Given the description of an element on the screen output the (x, y) to click on. 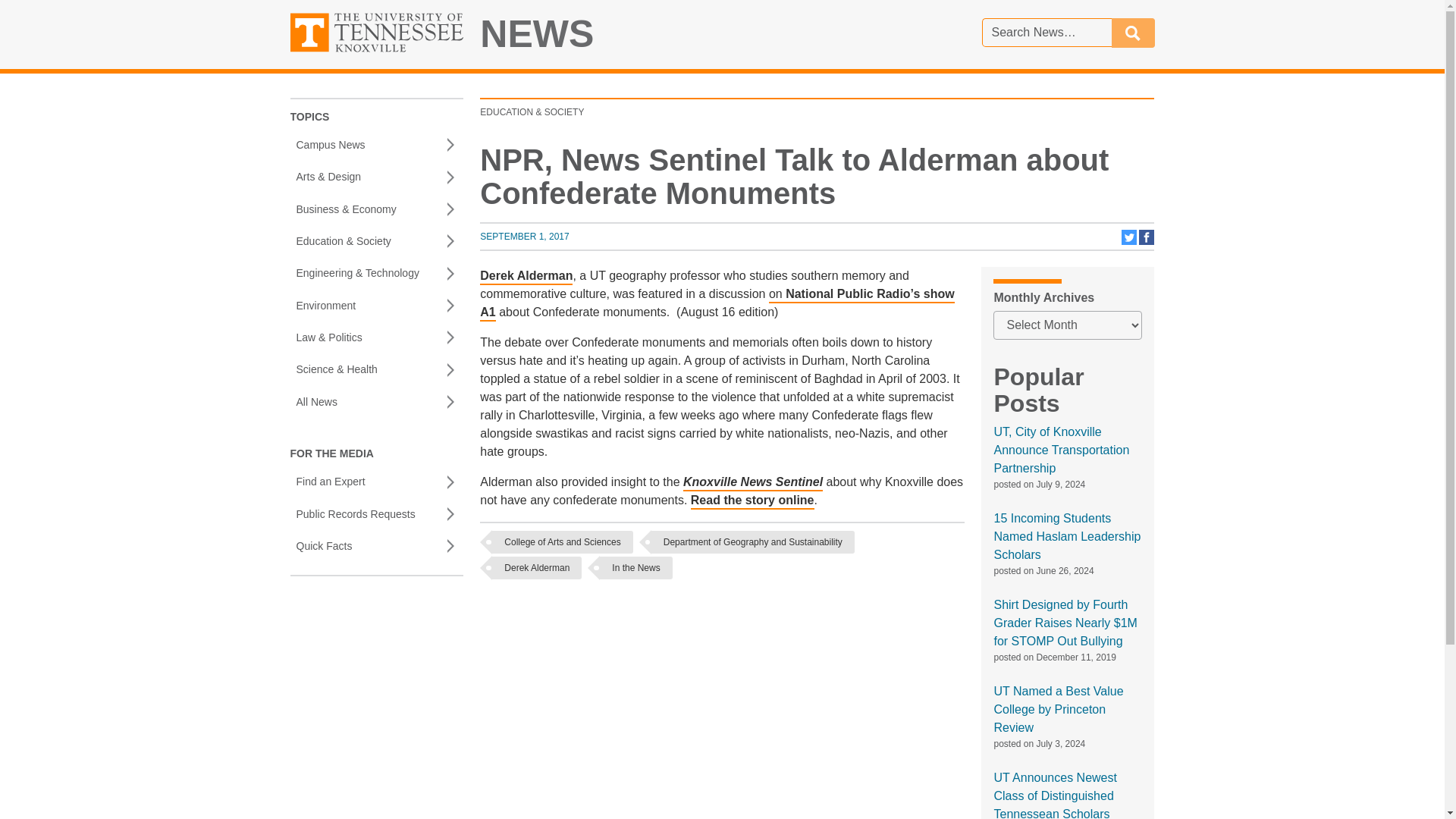
UT, City of Knoxville Announce Transportation Partnership (1060, 450)
Search for: (1045, 32)
College of Arts and Sciences (561, 541)
Read the story online (751, 501)
Search (1133, 32)
Share on Facebook. (1146, 241)
NEWS (537, 34)
Quick Facts (376, 545)
Derek Alderman (536, 567)
Department of Geography and Sustainability (752, 541)
